Given the description of an element on the screen output the (x, y) to click on. 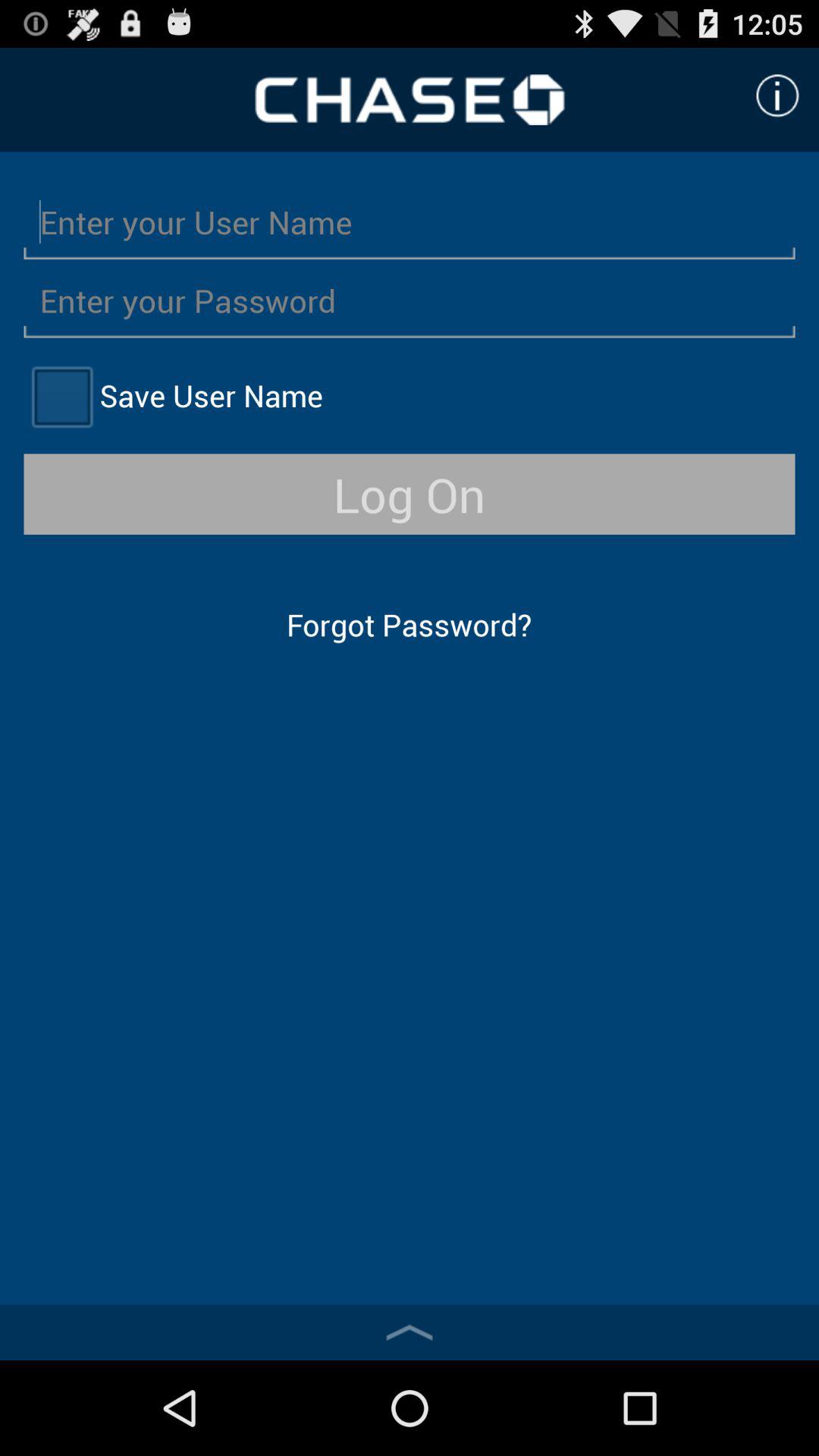
arrow up option (409, 1332)
